Given the description of an element on the screen output the (x, y) to click on. 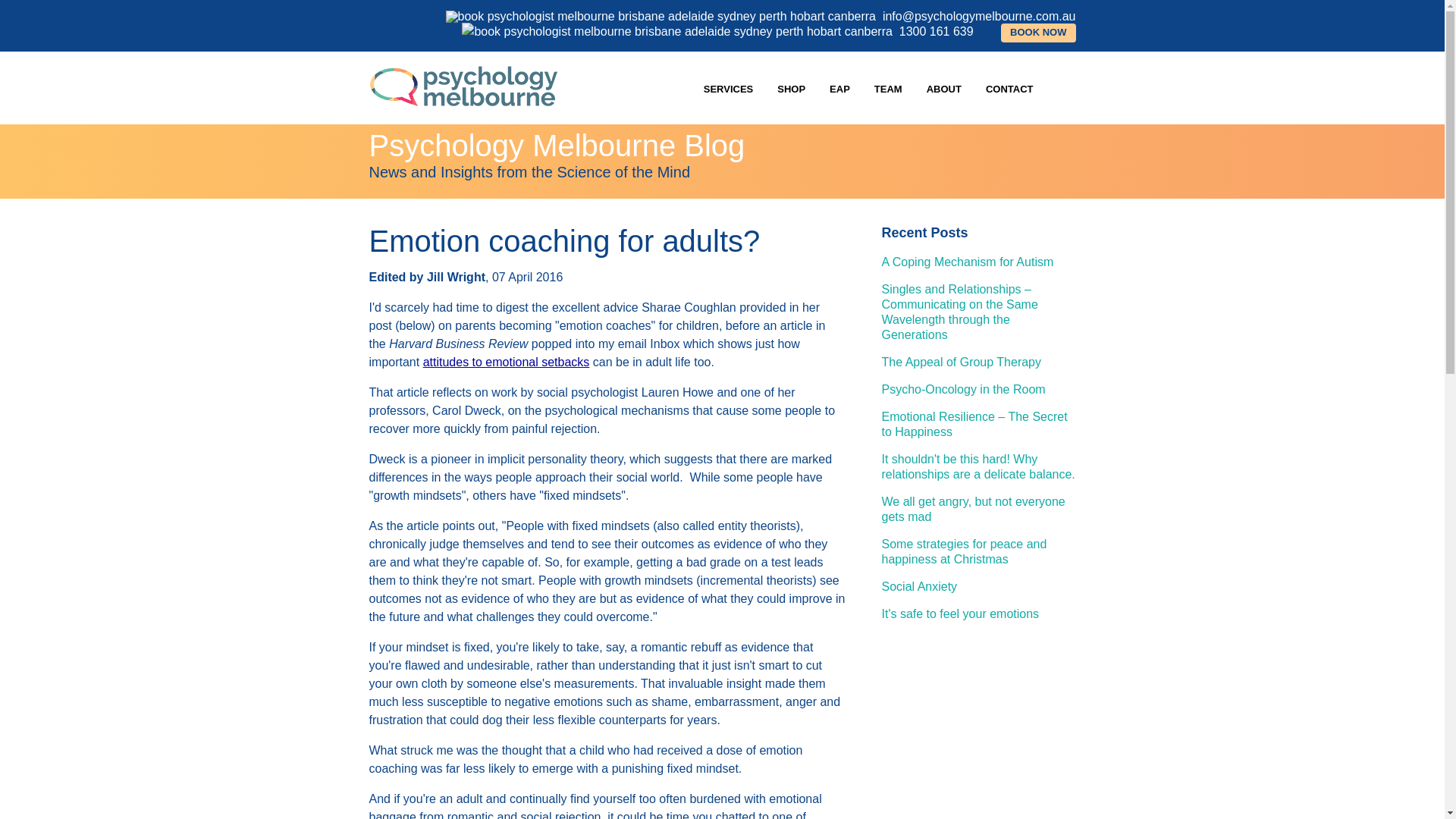
psychology courses online (790, 88)
SHOP (790, 88)
SERVICES (728, 88)
EAP (838, 88)
BOOK NOW (1038, 32)
ABOUT (944, 88)
TEAM (887, 88)
  1300 161 639 (716, 31)
find a psychologist (1038, 32)
